Given the description of an element on the screen output the (x, y) to click on. 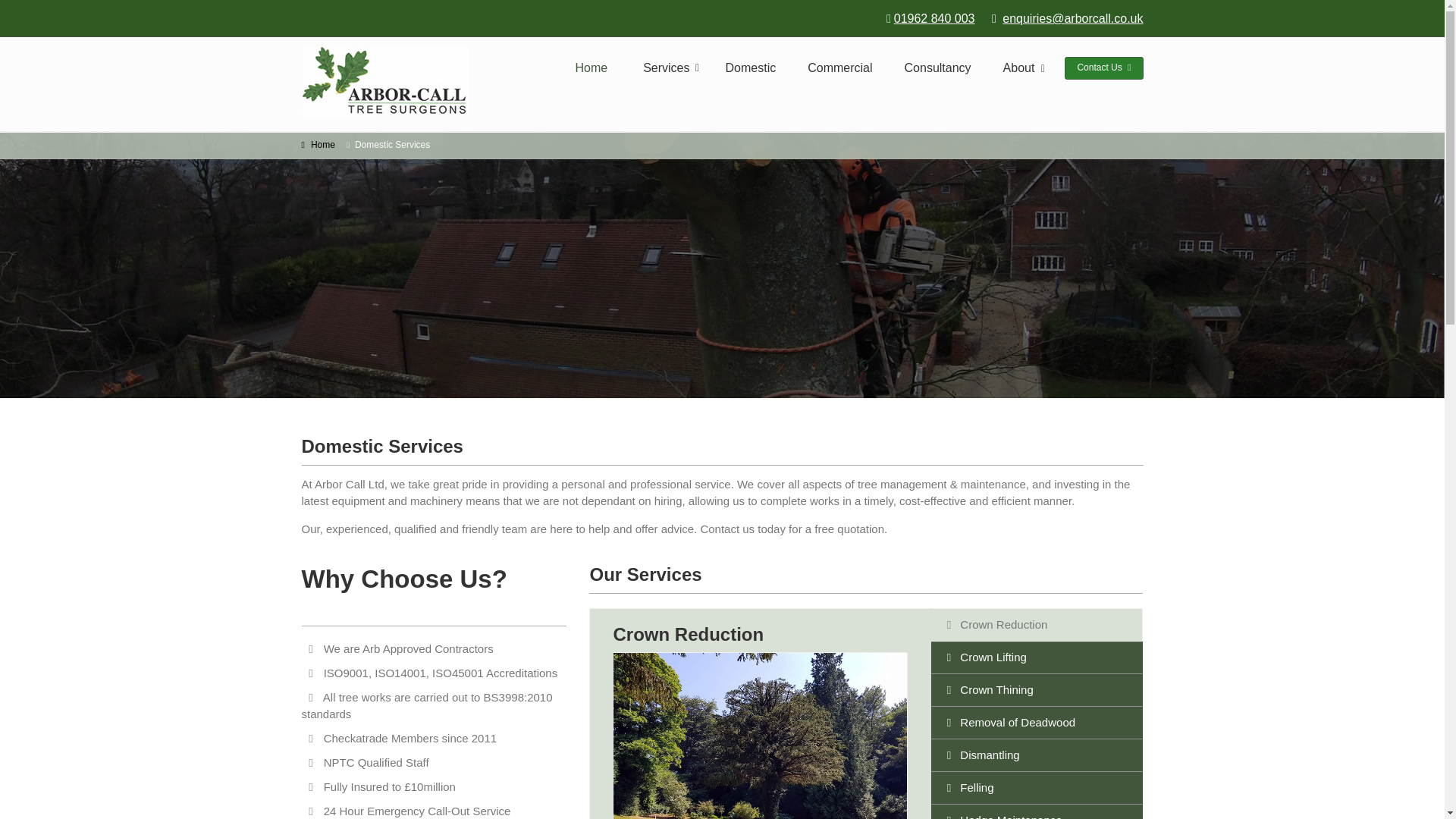
Crown Lifting (1036, 657)
About (1021, 67)
Dismantling (1036, 755)
Removal of Deadwood (1036, 722)
Home (322, 144)
Crown Reduction (1036, 624)
Contact Us (1103, 67)
Domestic (751, 67)
Hedge Maintenance (1036, 811)
Services (667, 67)
Felling (1036, 787)
01962 840 003 (934, 18)
Consultancy (938, 67)
Crown Thining (1036, 689)
Commercial (838, 67)
